Given the description of an element on the screen output the (x, y) to click on. 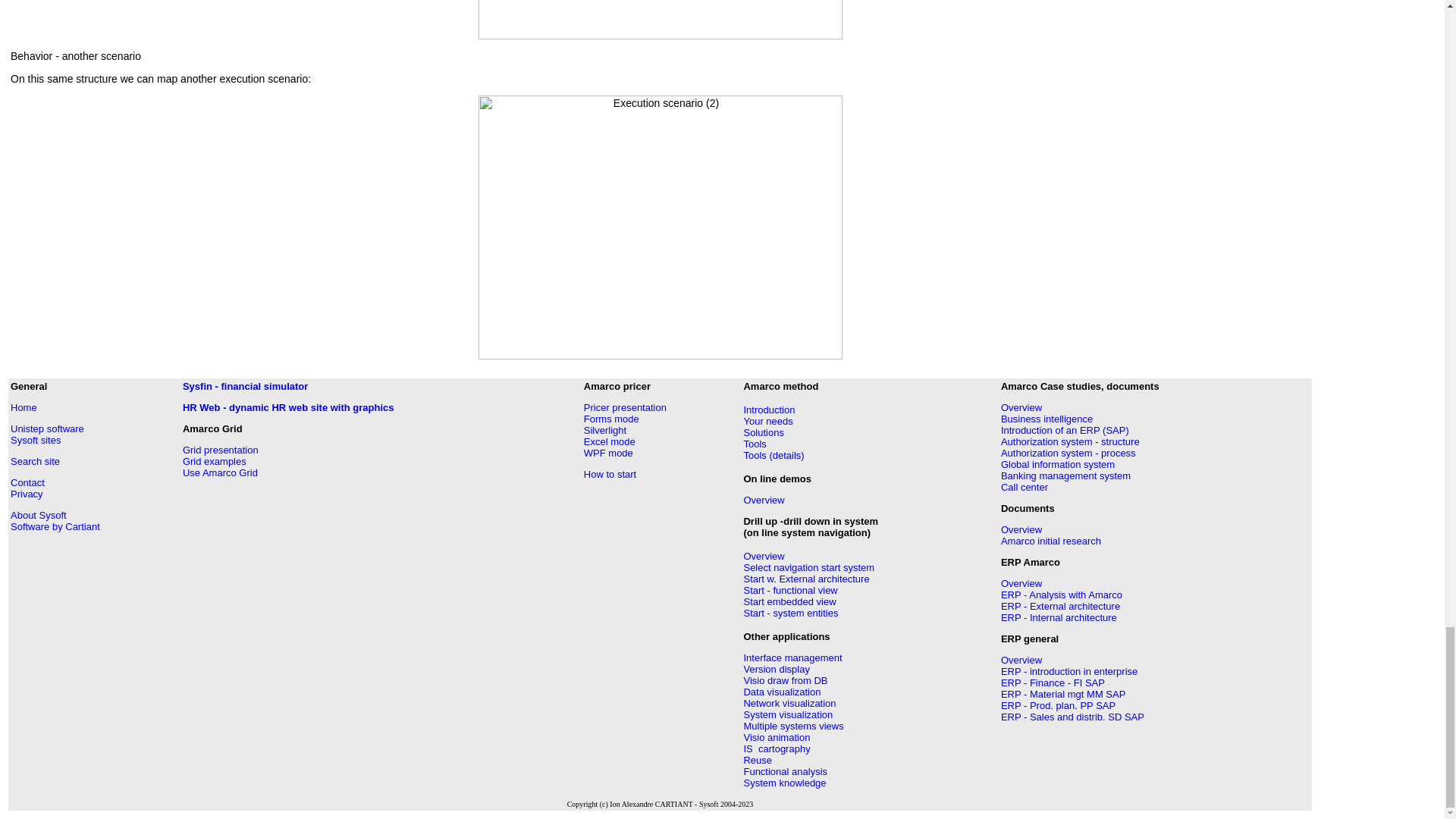
Privacy (26, 493)
Grid presentation (221, 449)
Home (23, 407)
Search site (34, 460)
Grid examples (214, 460)
Sysfin - financial simulator (245, 386)
Sysoft sites (35, 439)
About Sysoft (38, 514)
Unistep software (47, 428)
Software by Cartiant (55, 526)
Contact (27, 482)
HR Web - dynamic HR web site with graphics (288, 407)
Behavior - another scenario (75, 55)
